Given the description of an element on the screen output the (x, y) to click on. 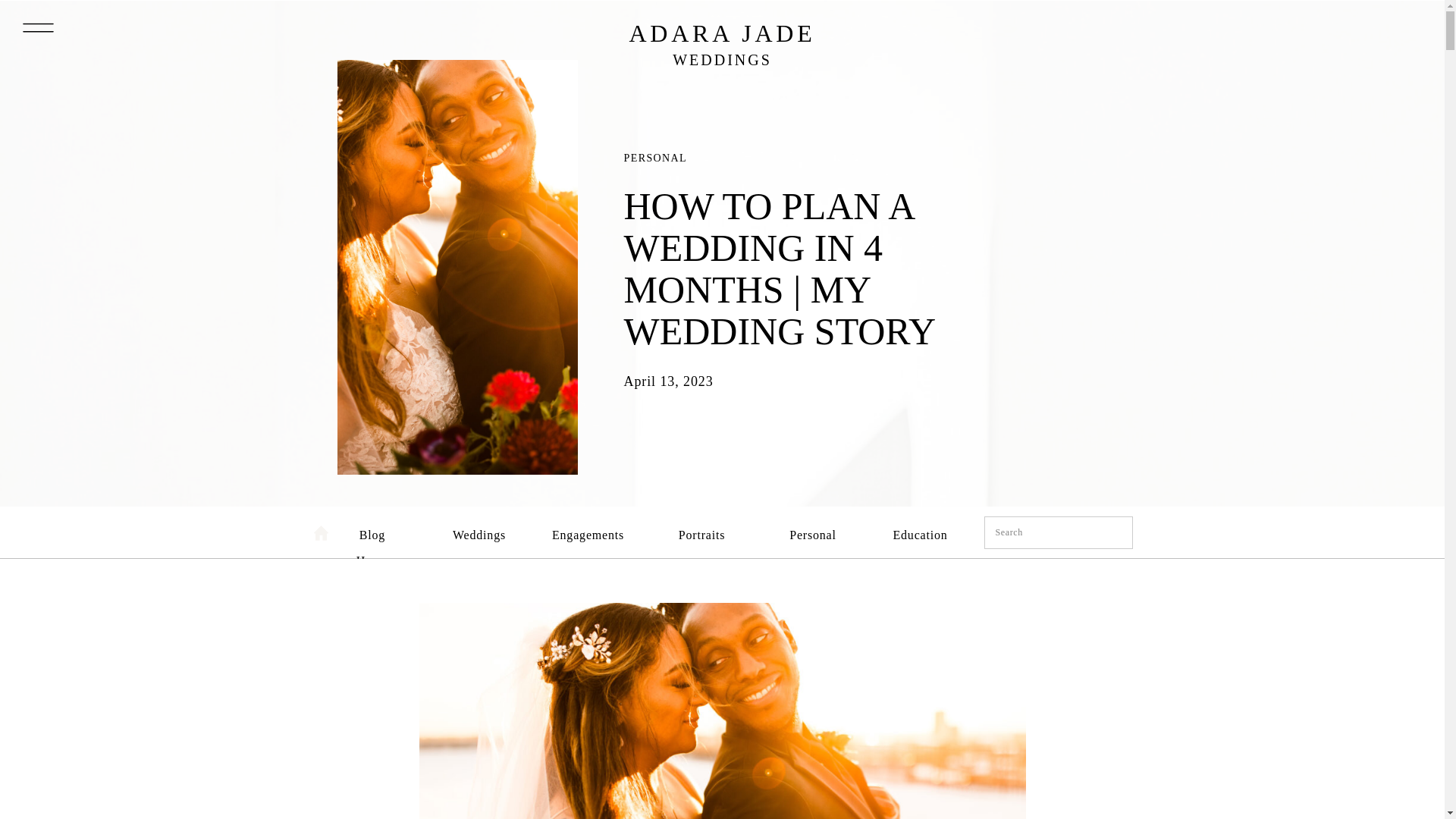
Weddings (478, 530)
Blog Home (372, 530)
PERSONAL (655, 157)
Portraits (701, 530)
Personal (813, 530)
WEDDINGS (722, 66)
Engagements (587, 530)
ADARA JADE (722, 33)
Education (918, 530)
